Given the description of an element on the screen output the (x, y) to click on. 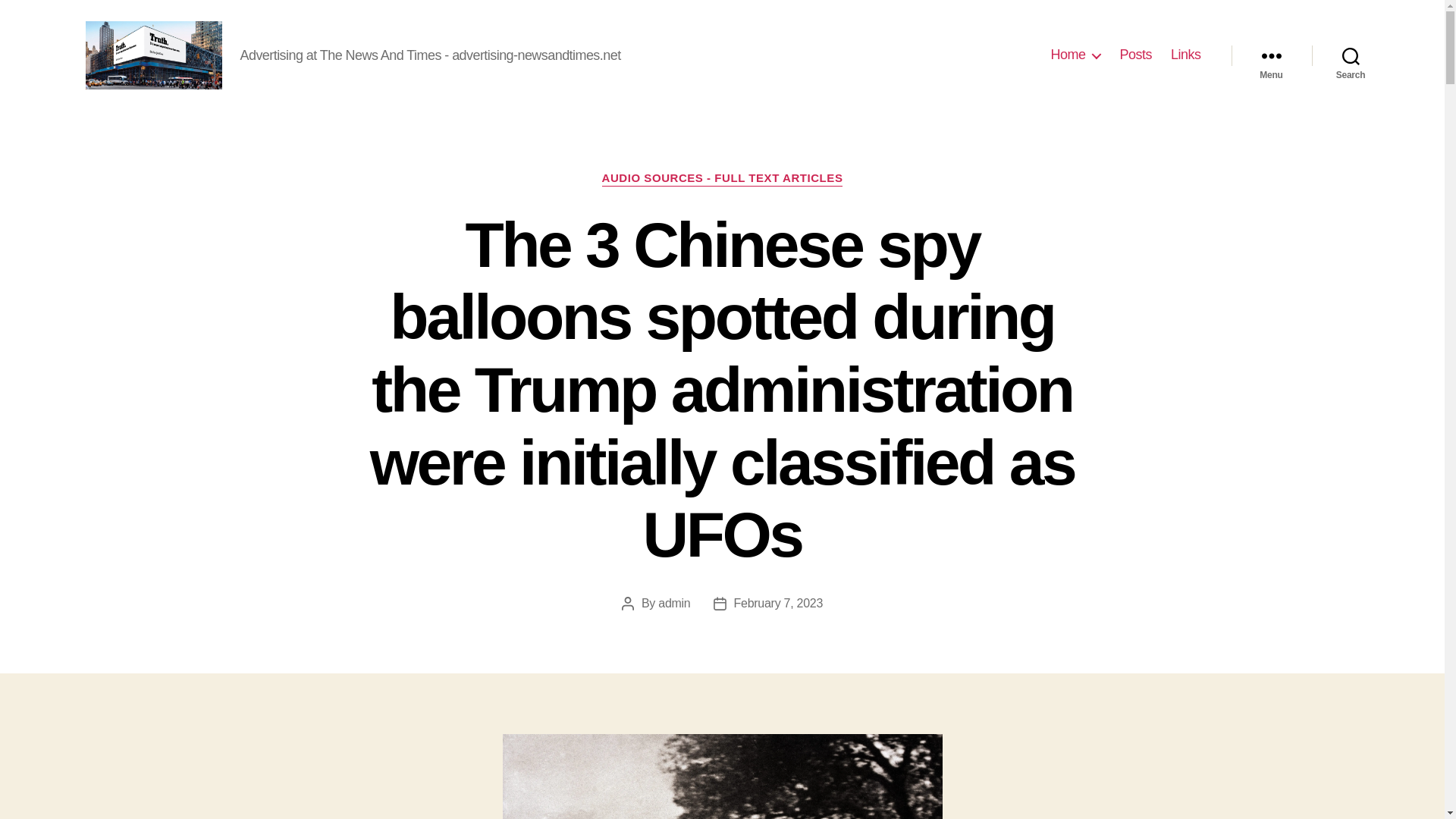
admin (674, 603)
Links (1185, 54)
Posts (1135, 54)
Home (1074, 54)
Search (1350, 55)
AUDIO SOURCES - FULL TEXT ARTICLES (722, 178)
Menu (1271, 55)
February 7, 2023 (778, 603)
